Given the description of an element on the screen output the (x, y) to click on. 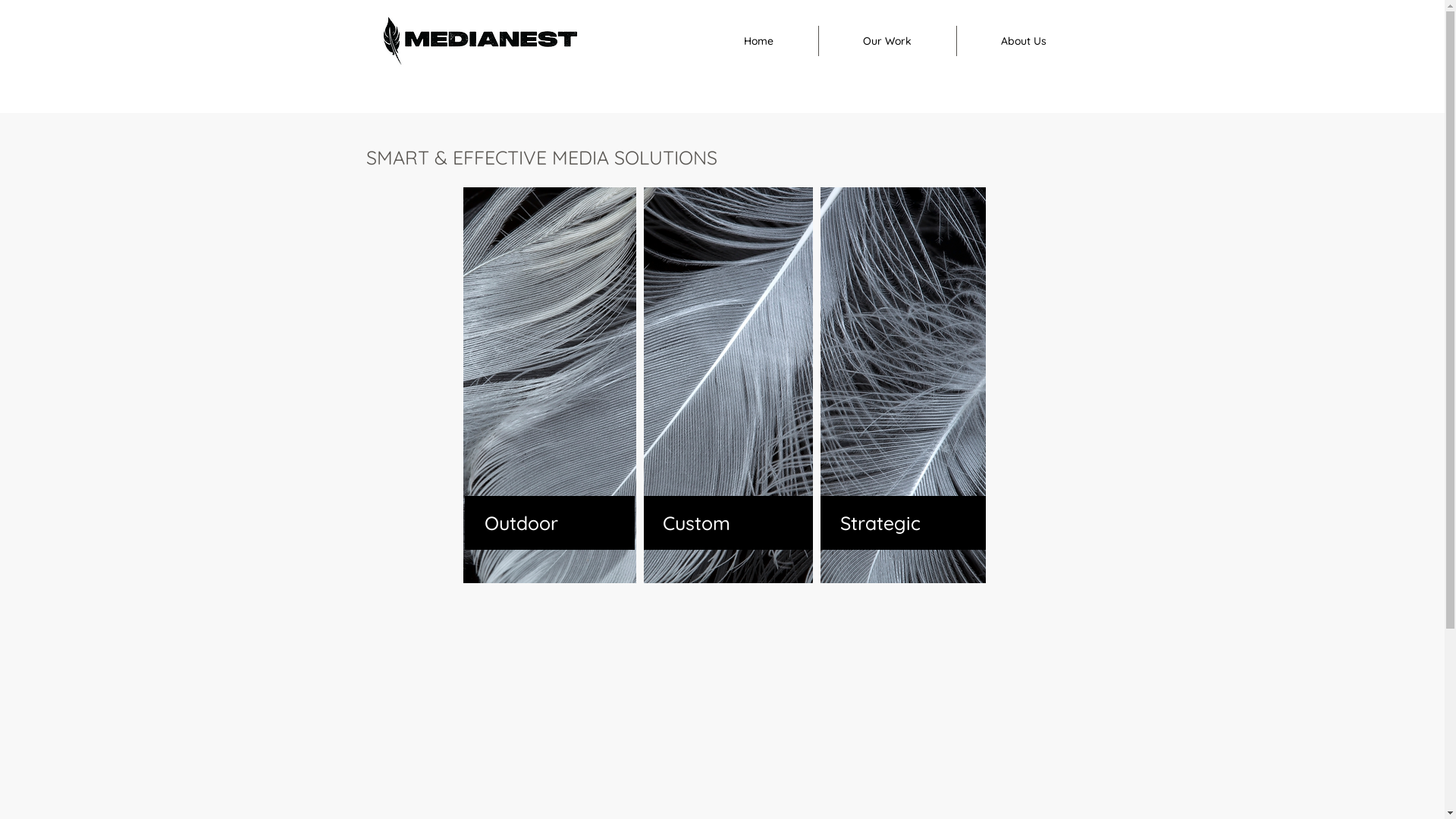
Custom Element type: text (727, 522)
About Us Element type: text (1023, 40)
Strategic Element type: text (902, 522)
Outdoor Element type: text (548, 522)
Our Work Element type: text (887, 40)
Home Element type: text (758, 40)
